Given the description of an element on the screen output the (x, y) to click on. 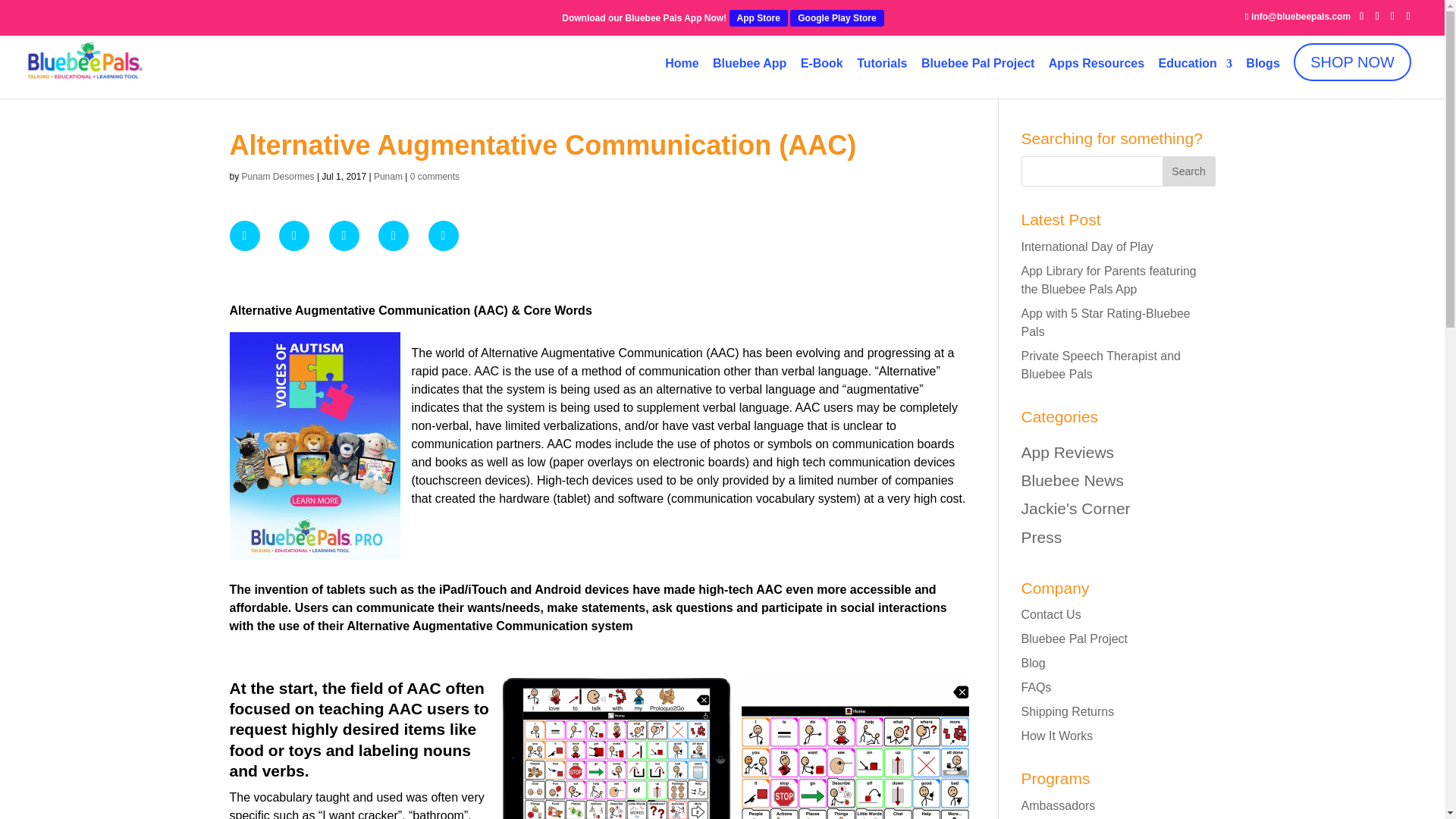
Search (1187, 171)
Blogs (1262, 69)
Posts by Punam Desormes (277, 176)
Apps Resources (1096, 69)
SHOP NOW (1352, 59)
Google Play Store (836, 17)
Bluebee App (749, 69)
Tutorials (882, 69)
App Store (758, 17)
Home (681, 69)
